Given the description of an element on the screen output the (x, y) to click on. 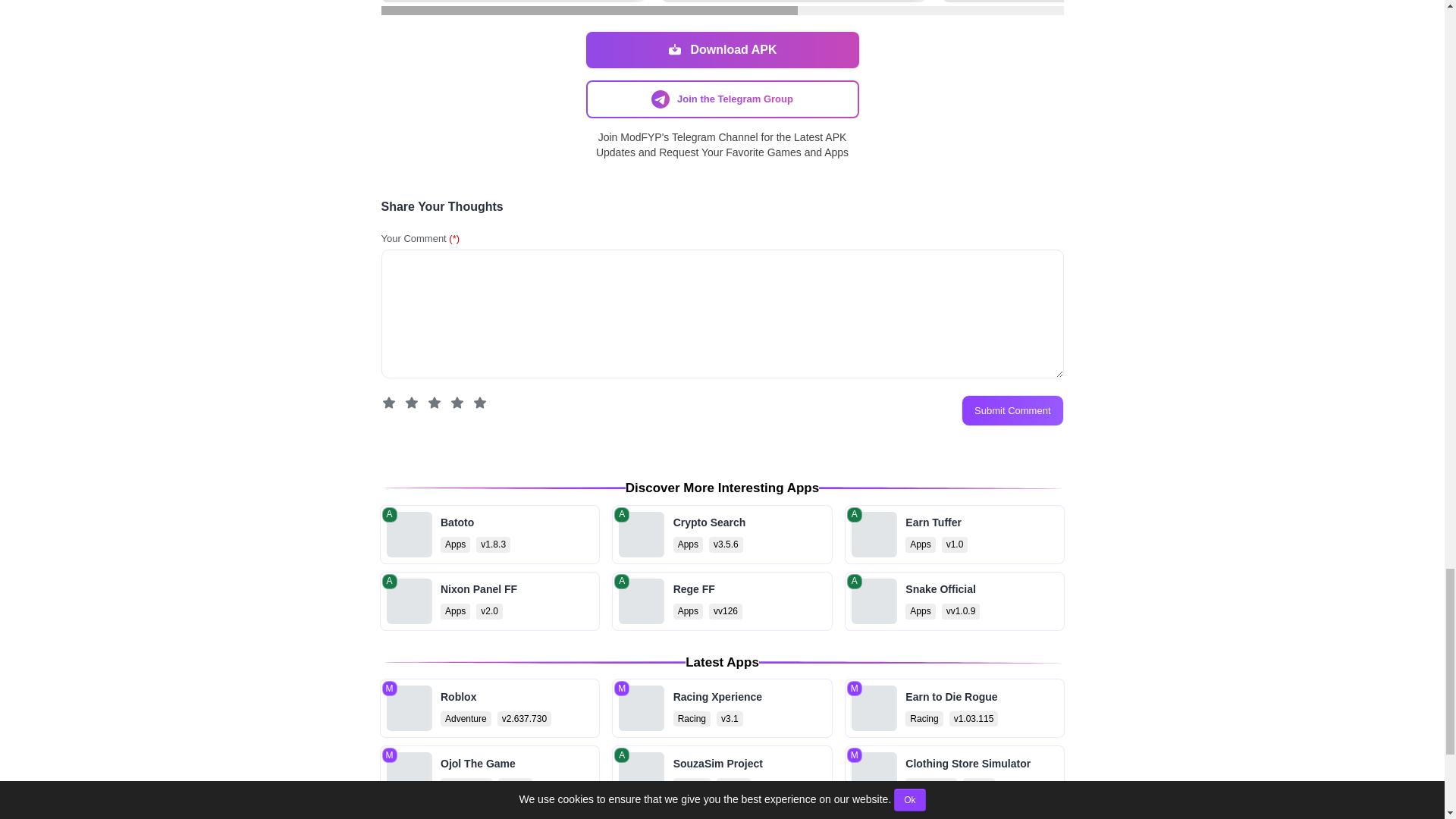
Download APK (722, 49)
Submit Comment (488, 534)
Rege FF (1011, 409)
SouzaSim Project (721, 600)
Ojol The Game (721, 774)
Crypto Search (488, 774)
Clothing Store Simulator (721, 534)
Join the Telegram Group (721, 534)
